Given the description of an element on the screen output the (x, y) to click on. 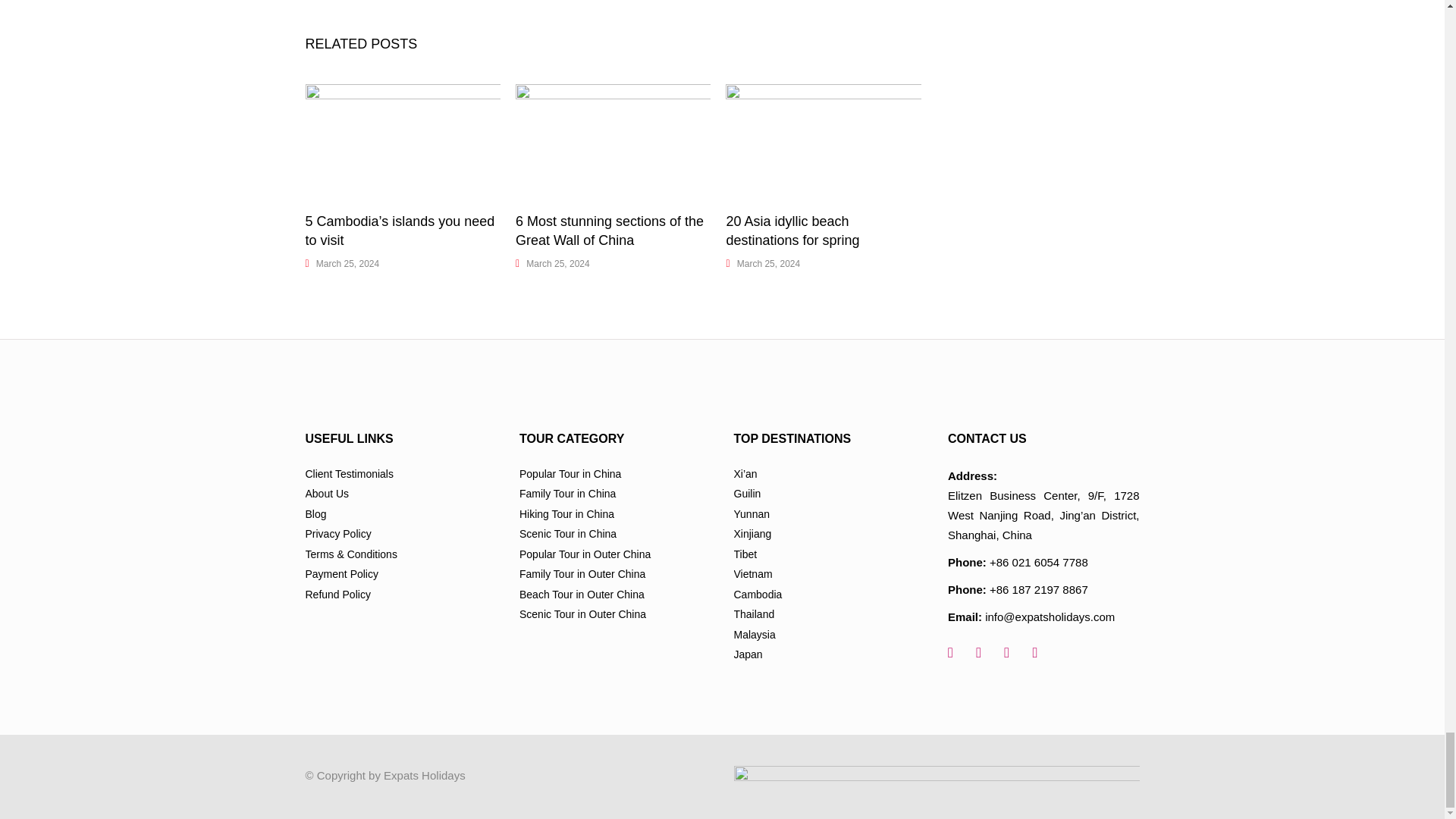
20 Asia idyllic beach destinations for spring (822, 141)
6 Most stunning sections of the Great Wall of China (609, 230)
6 Most stunning sections of the Great Wall of China (612, 141)
20 Asia idyllic beach destinations for spring (792, 230)
